Given the description of an element on the screen output the (x, y) to click on. 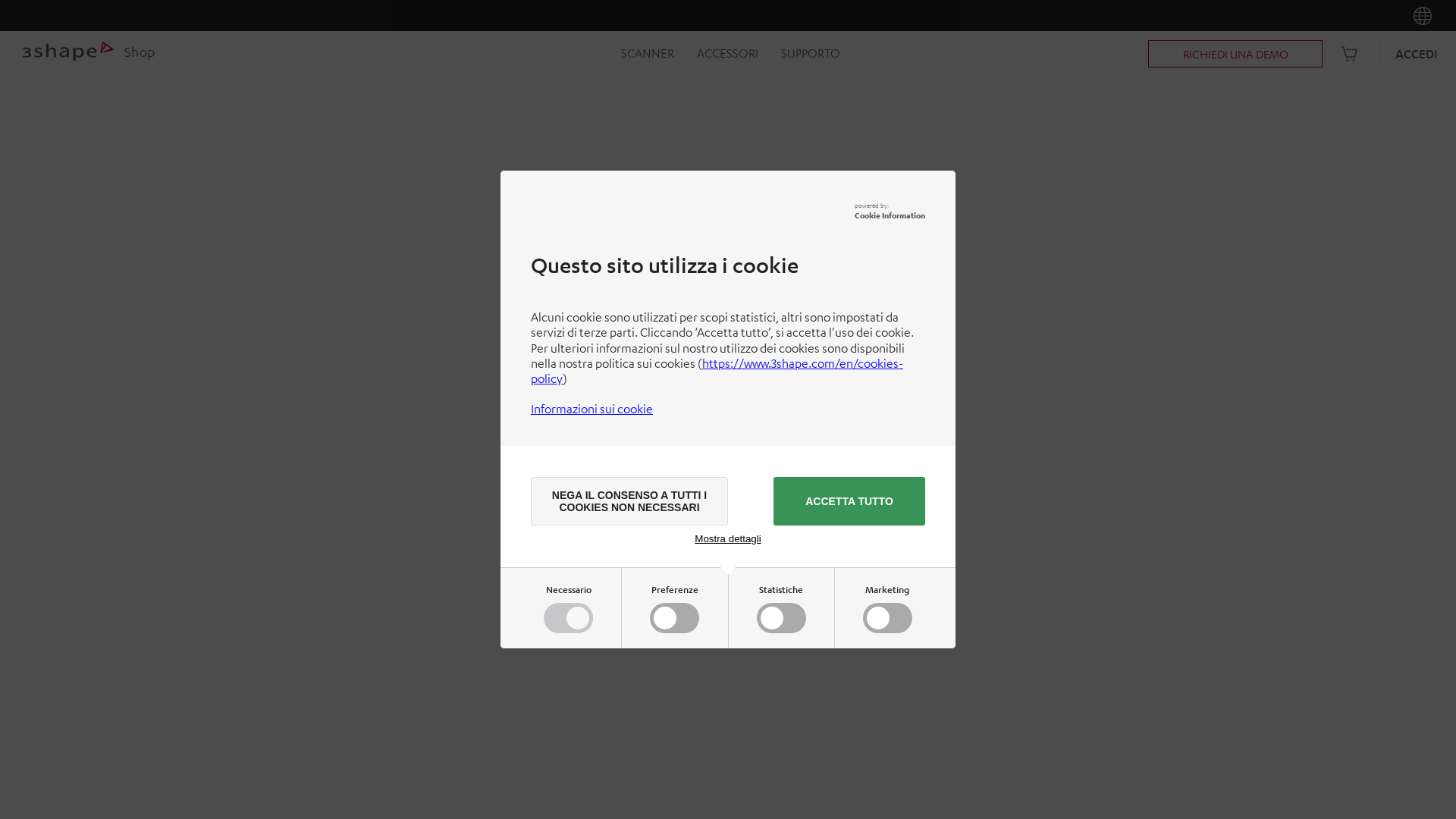
Mostra dettagli Element type: text (727, 538)
SCANNER Element type: text (646, 53)
SUPPORTO Element type: text (810, 53)
on Element type: text (890, 620)
RICHIEDI UNA DEMO Element type: text (1235, 53)
Informazioni sui cookie Element type: text (591, 408)
on Element type: text (677, 620)
ACCESSORI Element type: text (726, 53)
https://www.3shape.com/en/cookies-policy Element type: text (716, 370)
on Element type: text (784, 620)
Shop Element type: text (88, 53)
Cookie Information Element type: text (889, 214)
ACCEDI Element type: text (1416, 53)
ACCETTA TUTTO Element type: text (849, 500)
NEGA IL CONSENSO A TUTTI I COOKIES NON NECESSARI Element type: text (629, 500)
